Given the description of an element on the screen output the (x, y) to click on. 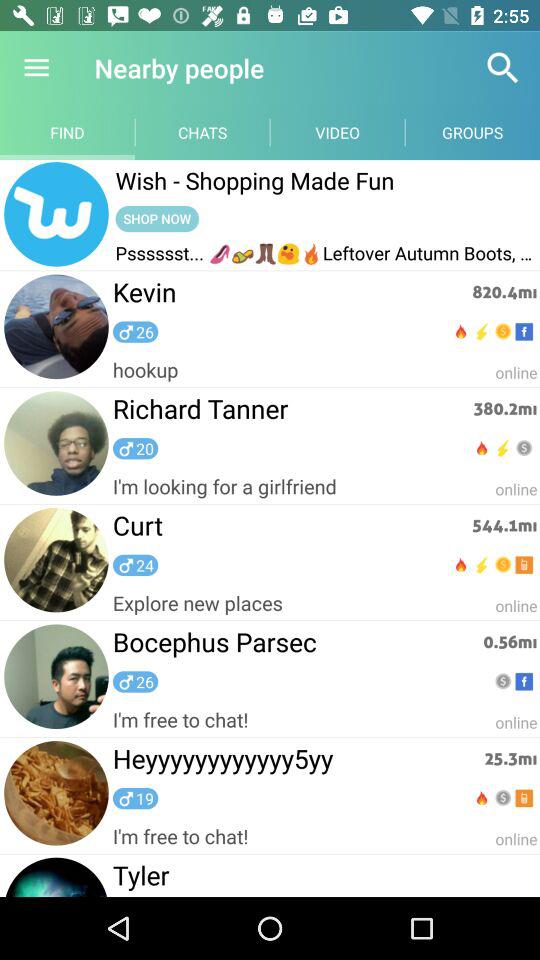
go to home page (56, 215)
